Given the description of an element on the screen output the (x, y) to click on. 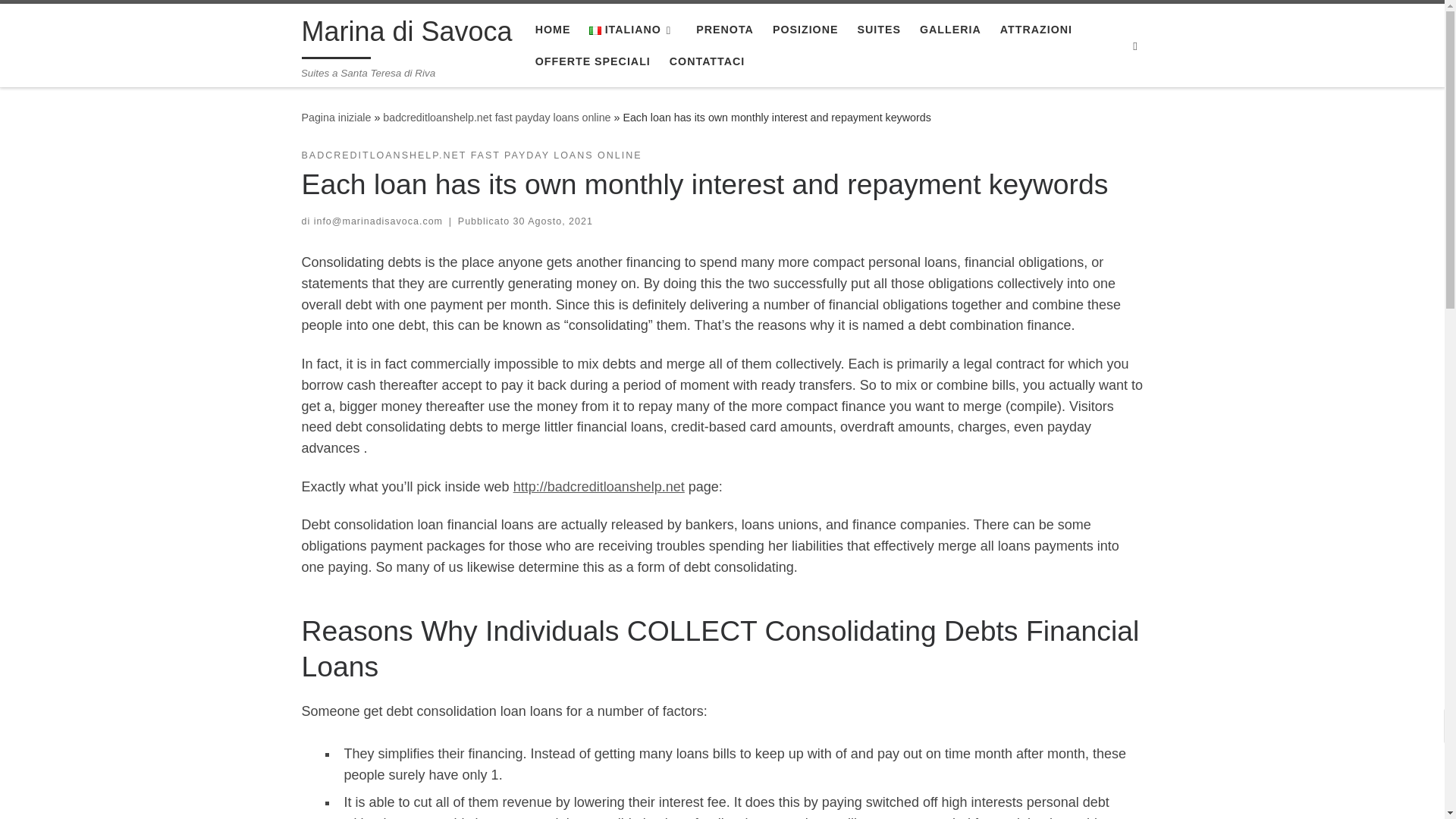
POSIZIONE (805, 29)
Pagina iniziale (336, 117)
badcreditloanshelp.net fast payday loans online (496, 117)
Marina di Savoca (336, 117)
BADCREDITLOANSHELP.NET FAST PAYDAY LOANS ONLINE (471, 155)
ITALIANO (633, 29)
badcreditloanshelp.net fast payday loans online (496, 117)
HOME (552, 29)
SUITES (878, 29)
CONTATTACI (707, 60)
GALLERIA (950, 29)
PRENOTA (724, 29)
Passa al contenuto (71, 20)
30 Agosto, 2021 (552, 221)
